Given the description of an element on the screen output the (x, y) to click on. 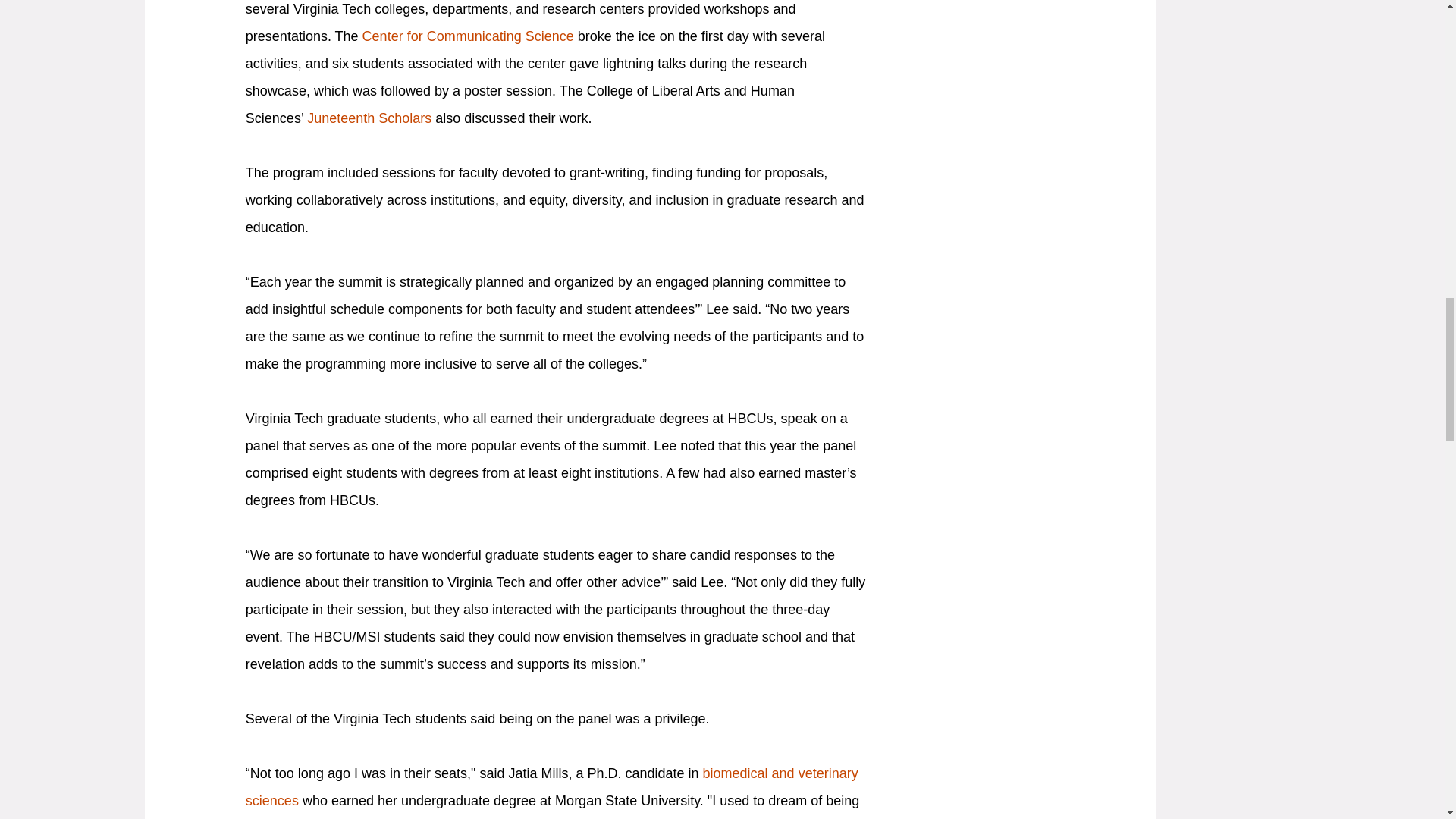
link to the Juneteenth Scholars page (368, 118)
link to the program site (552, 786)
link to the center's website (467, 36)
